Given the description of an element on the screen output the (x, y) to click on. 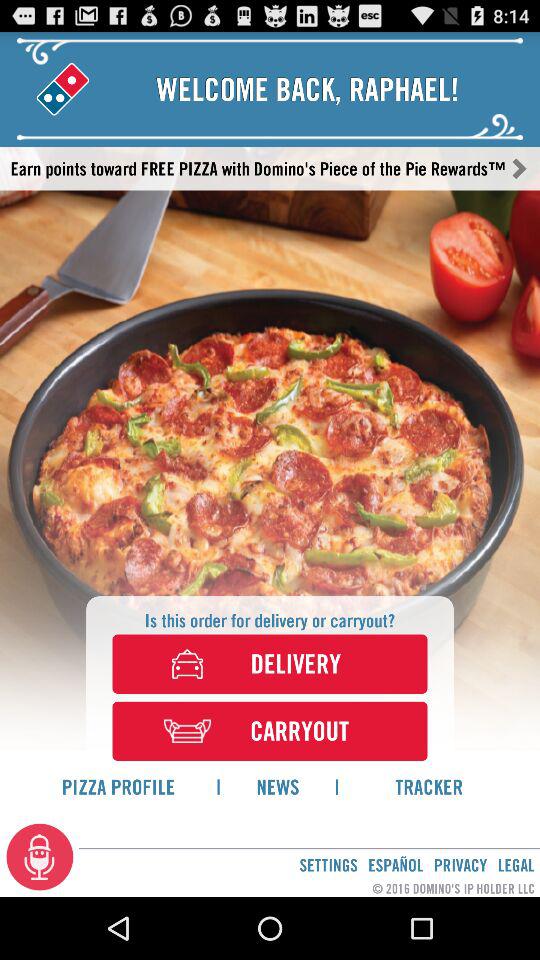
turn off the app below the pizza profile (40, 856)
